Given the description of an element on the screen output the (x, y) to click on. 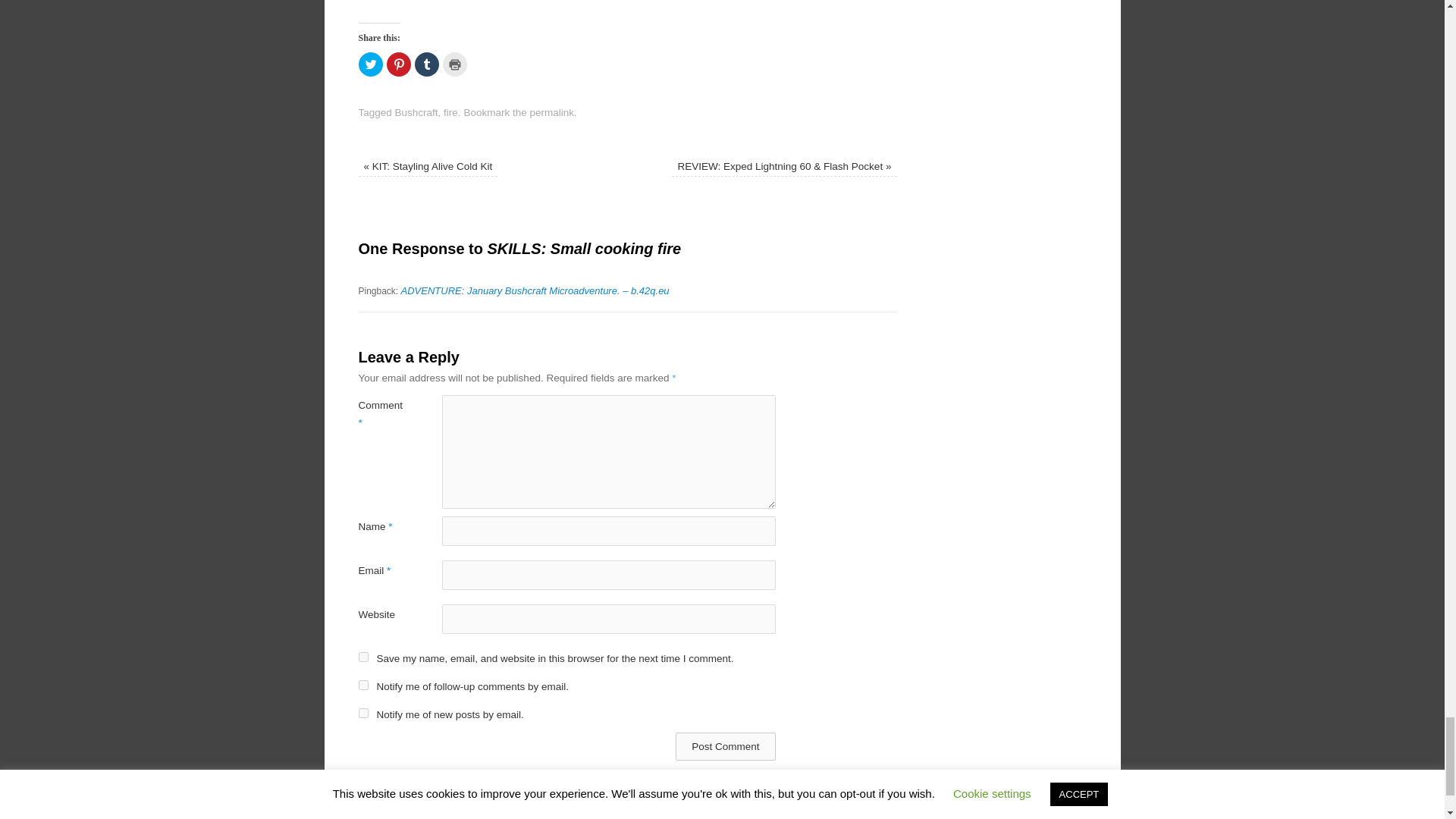
Post Comment (724, 746)
Click to share on Tumblr (425, 64)
Permalink to SKILLS: Small cooking fire (551, 112)
fire (451, 112)
Click to share on Twitter (369, 64)
Bushcraft (416, 112)
Click to share on Pinterest (398, 64)
yes (363, 656)
subscribe (363, 685)
Click to print (454, 64)
Learn how your comment data is processed (668, 802)
permalink (551, 112)
subscribe (363, 713)
Post Comment (724, 746)
